Given the description of an element on the screen output the (x, y) to click on. 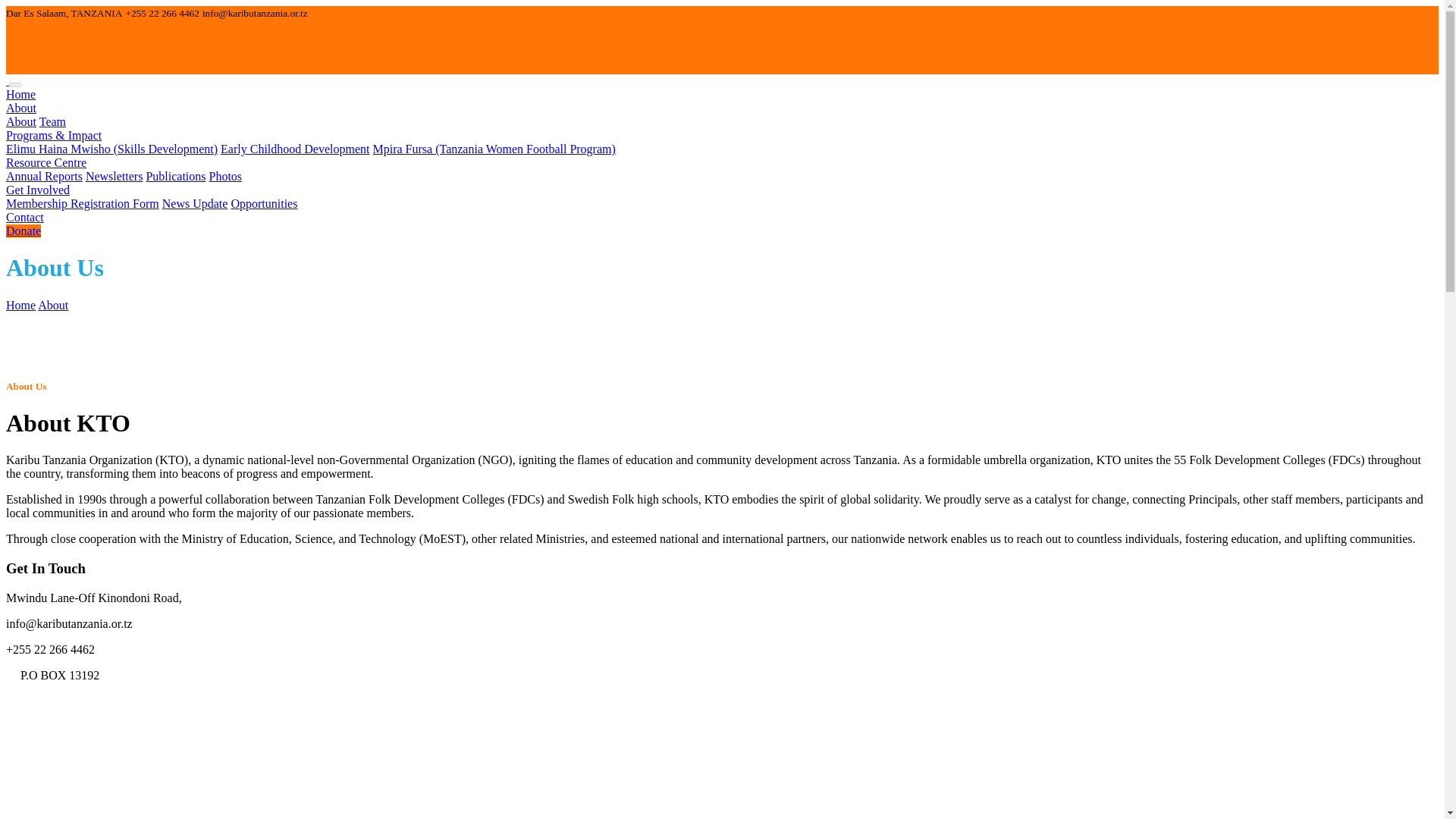
Contact (24, 216)
Early Childhood Development (295, 148)
Newsletters (113, 175)
Get Involved (37, 189)
Membership Registration Form (81, 203)
Team (52, 121)
Home (19, 93)
News Update (194, 203)
Home (19, 305)
About (20, 121)
